Given the description of an element on the screen output the (x, y) to click on. 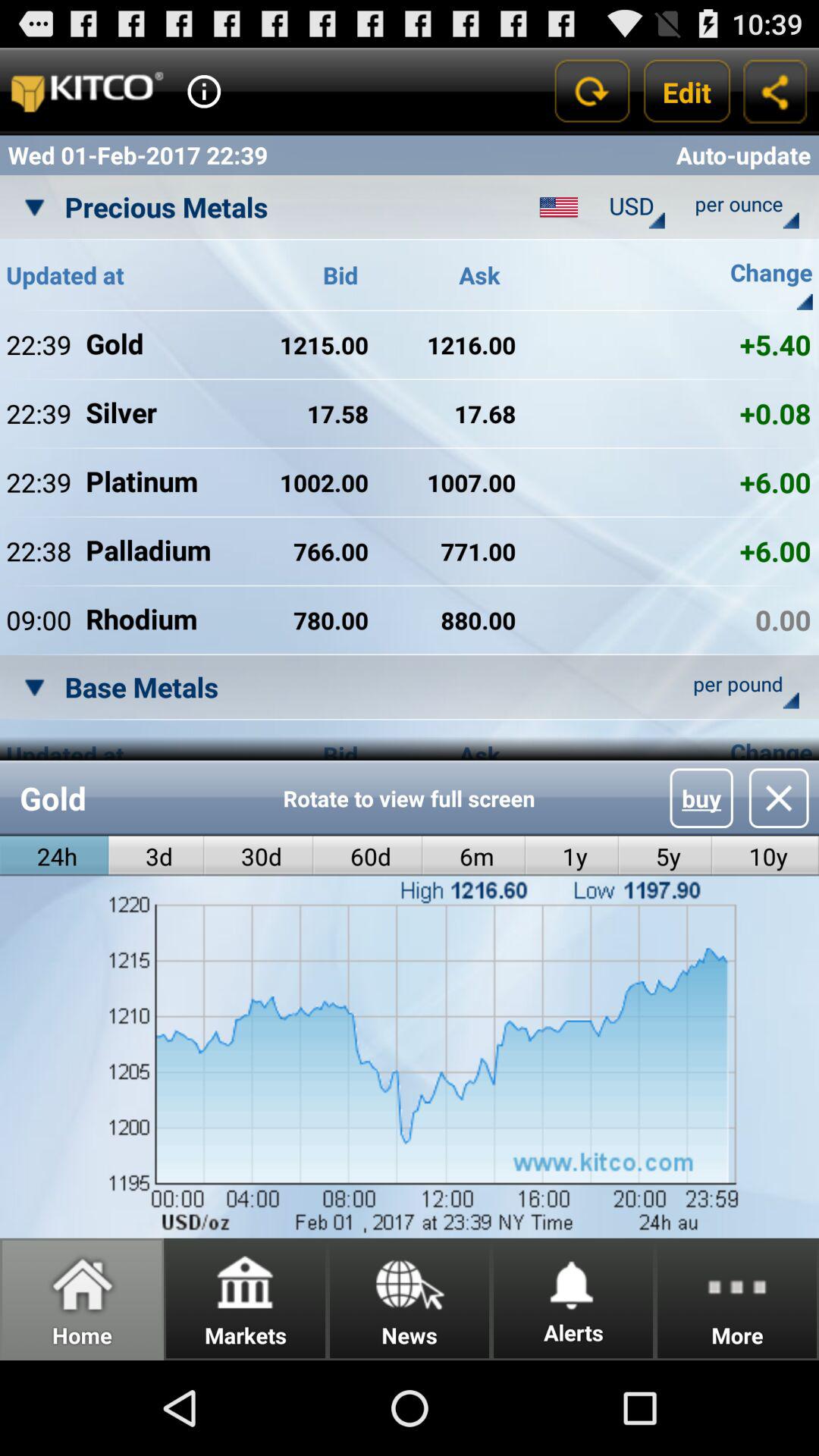
click the icon next to the 5y radio button (571, 856)
